Given the description of an element on the screen output the (x, y) to click on. 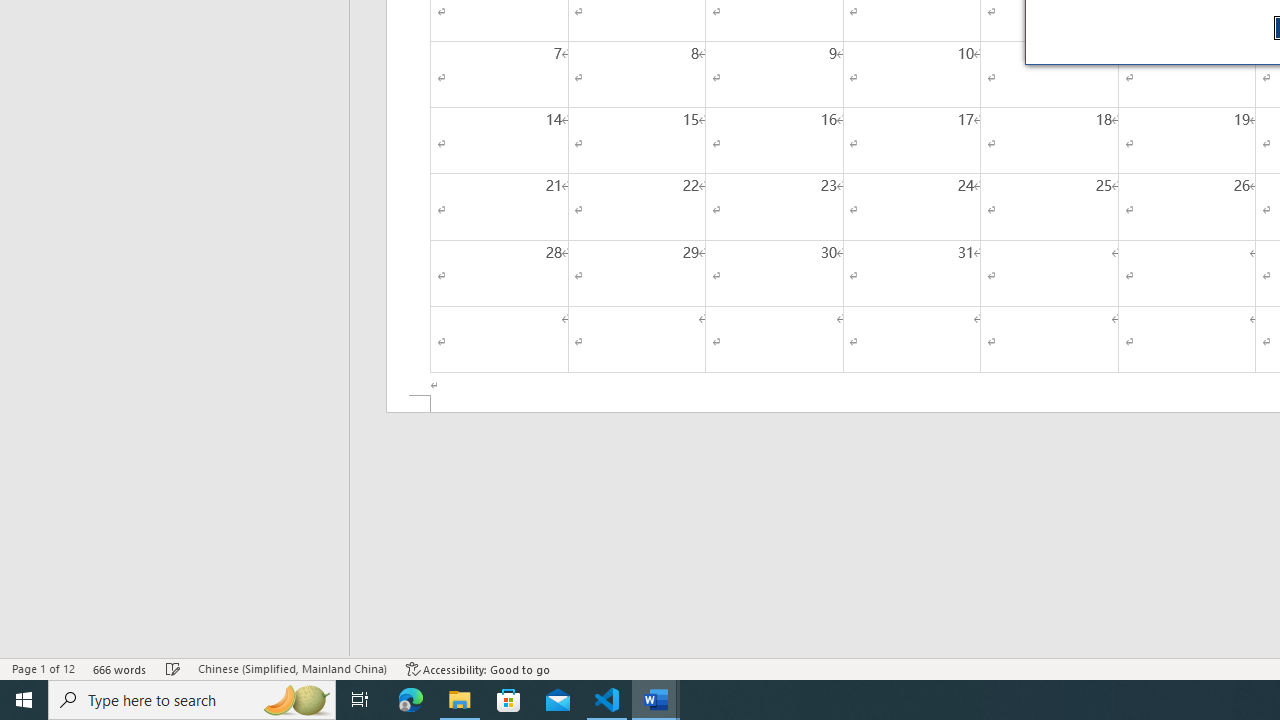
Microsoft Store (509, 699)
Type here to search (191, 699)
Microsoft Edge (411, 699)
Spelling and Grammar Check Checking (173, 668)
Language Chinese (Simplified, Mainland China) (292, 668)
Page Number Page 1 of 12 (43, 668)
Visual Studio Code - 1 running window (607, 699)
Word - 2 running windows (656, 699)
File Explorer - 1 running window (460, 699)
Accessibility Checker Accessibility: Good to go (478, 668)
Word Count 666 words (119, 668)
Search highlights icon opens search home window (295, 699)
Start (24, 699)
